Given the description of an element on the screen output the (x, y) to click on. 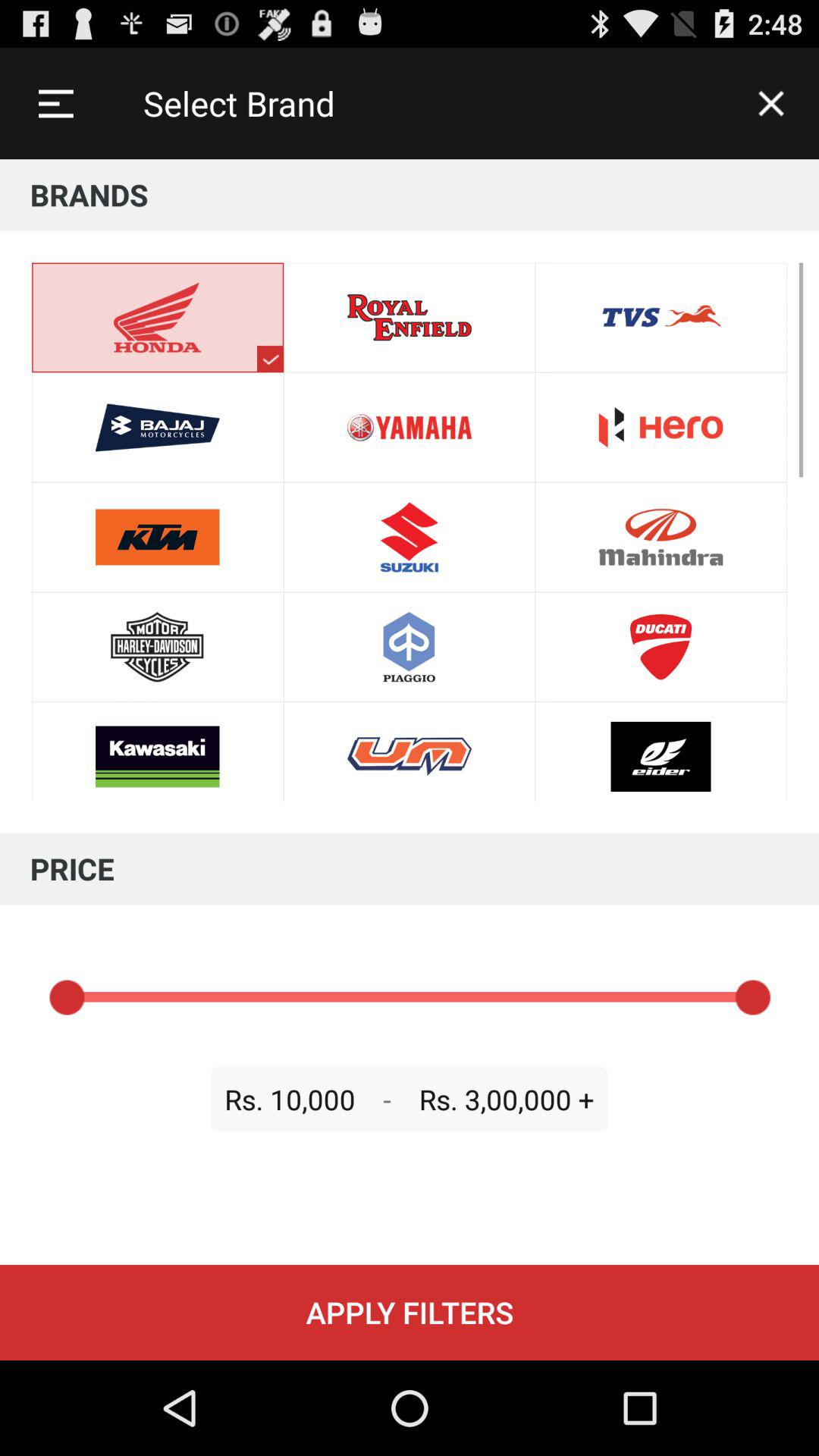
launch item below the rs. 10,000 item (409, 1312)
